Given the description of an element on the screen output the (x, y) to click on. 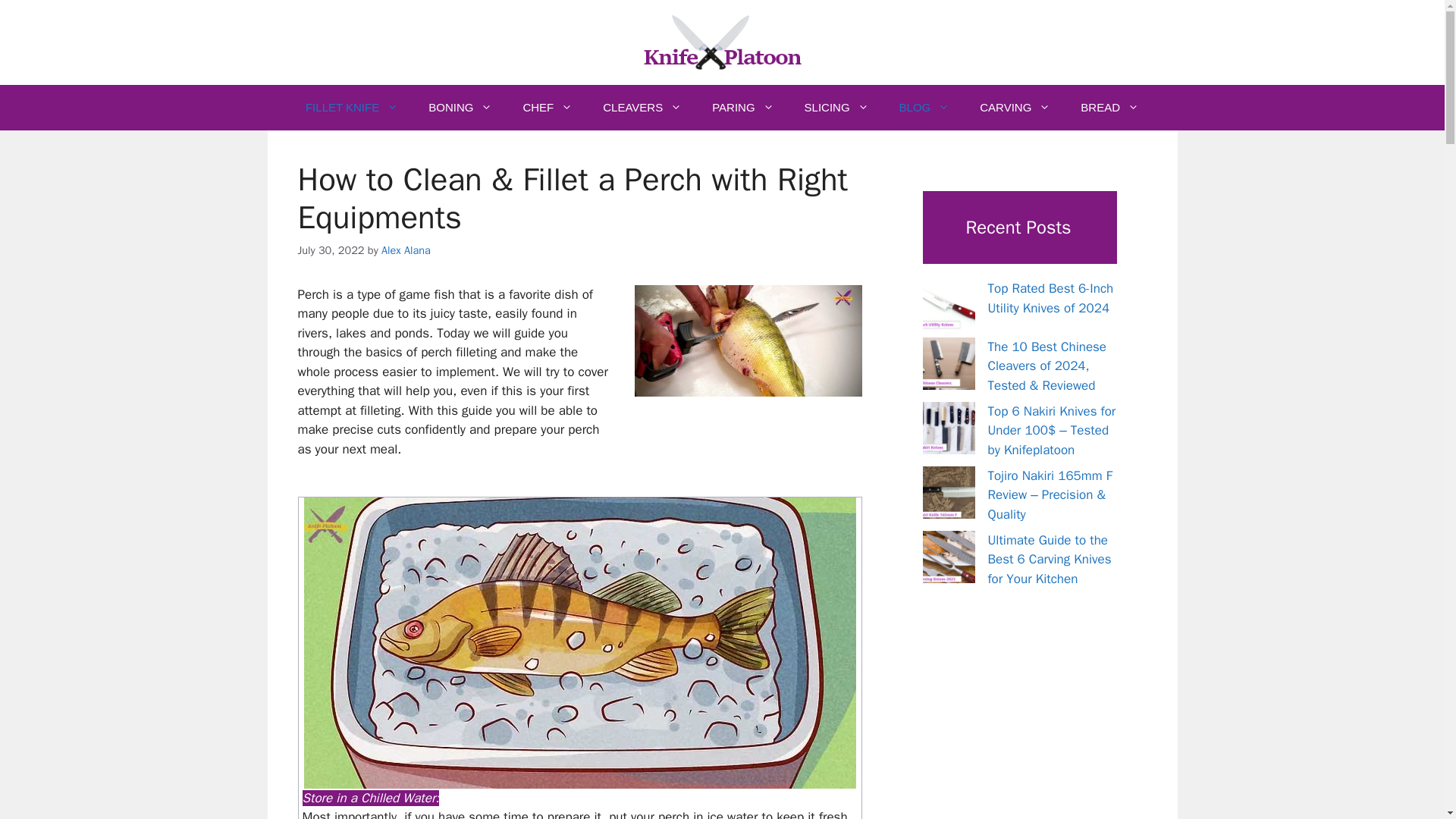
FILLET KNIFE (351, 107)
View all posts by Alex Alana (405, 250)
